Given the description of an element on the screen output the (x, y) to click on. 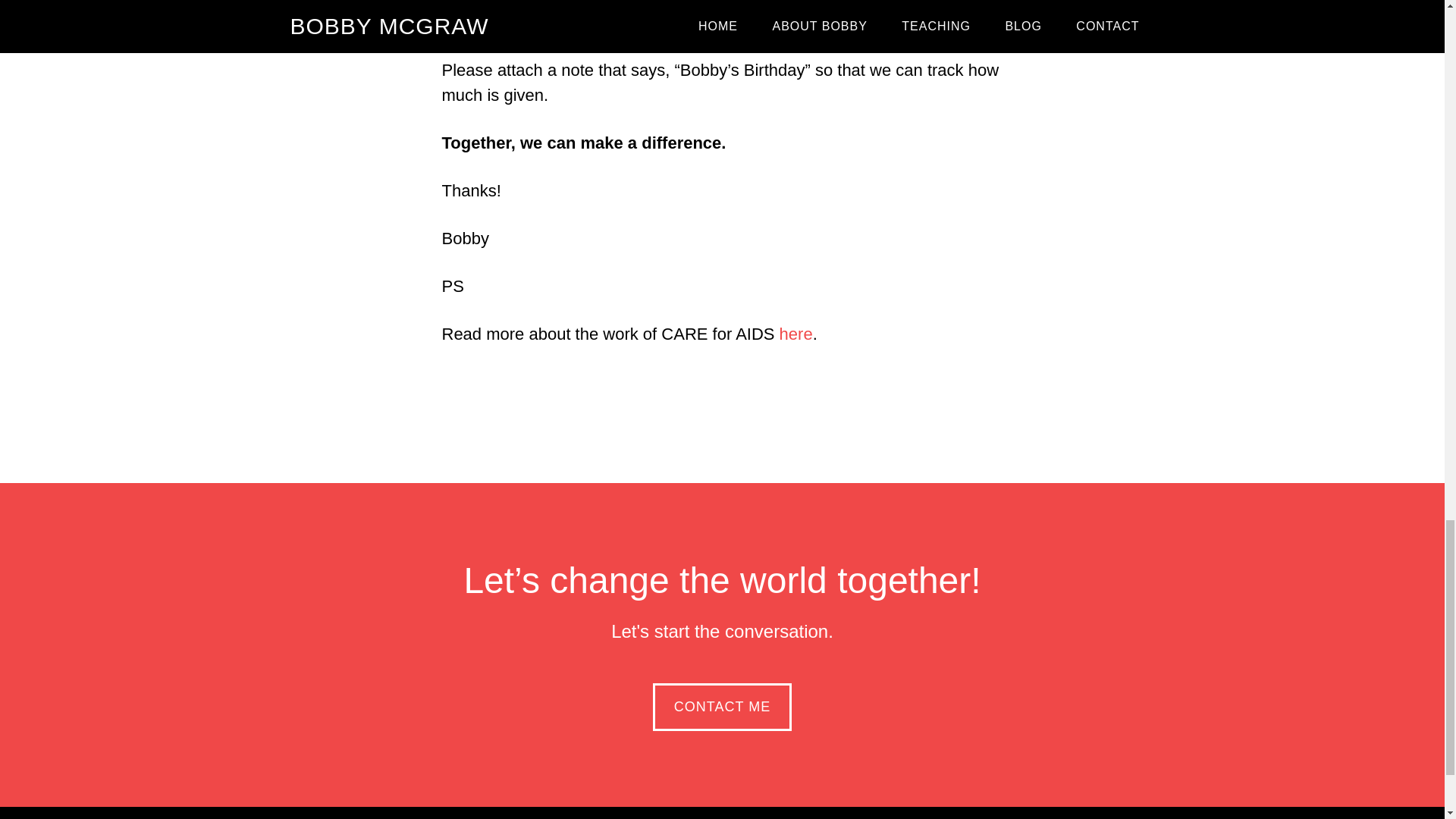
CONTACT ME (722, 707)
here (795, 333)
